Given the description of an element on the screen output the (x, y) to click on. 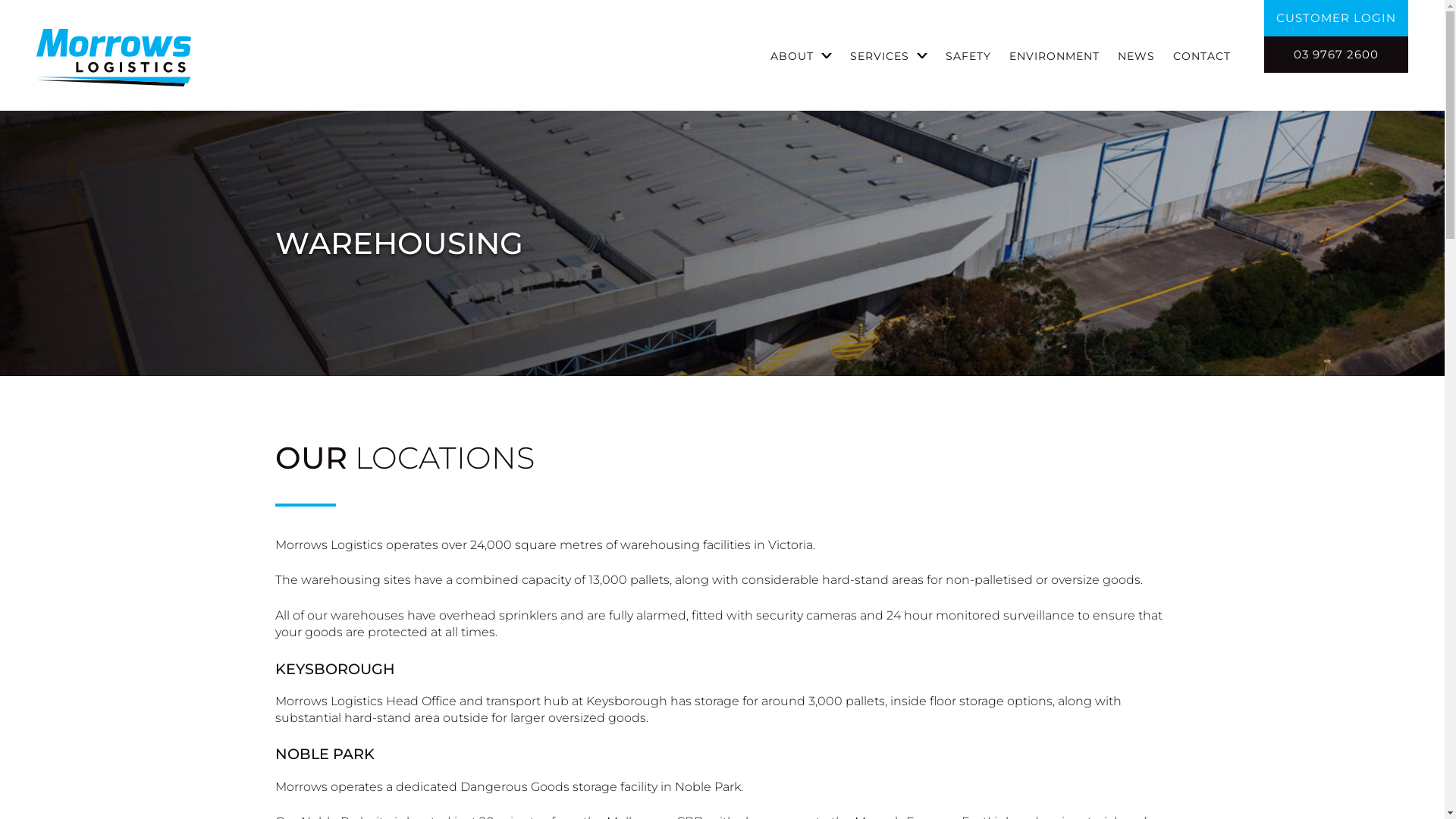
NEWS Element type: text (1135, 58)
ENVIRONMENT Element type: text (1054, 58)
SERVICES Element type: text (879, 58)
03 9767 2600 Element type: text (1336, 54)
SAFETY Element type: text (968, 58)
ABOUT Element type: text (791, 58)
CONTACT Element type: text (1201, 58)
CUSTOMER LOGIN Element type: text (1336, 18)
